Given the description of an element on the screen output the (x, y) to click on. 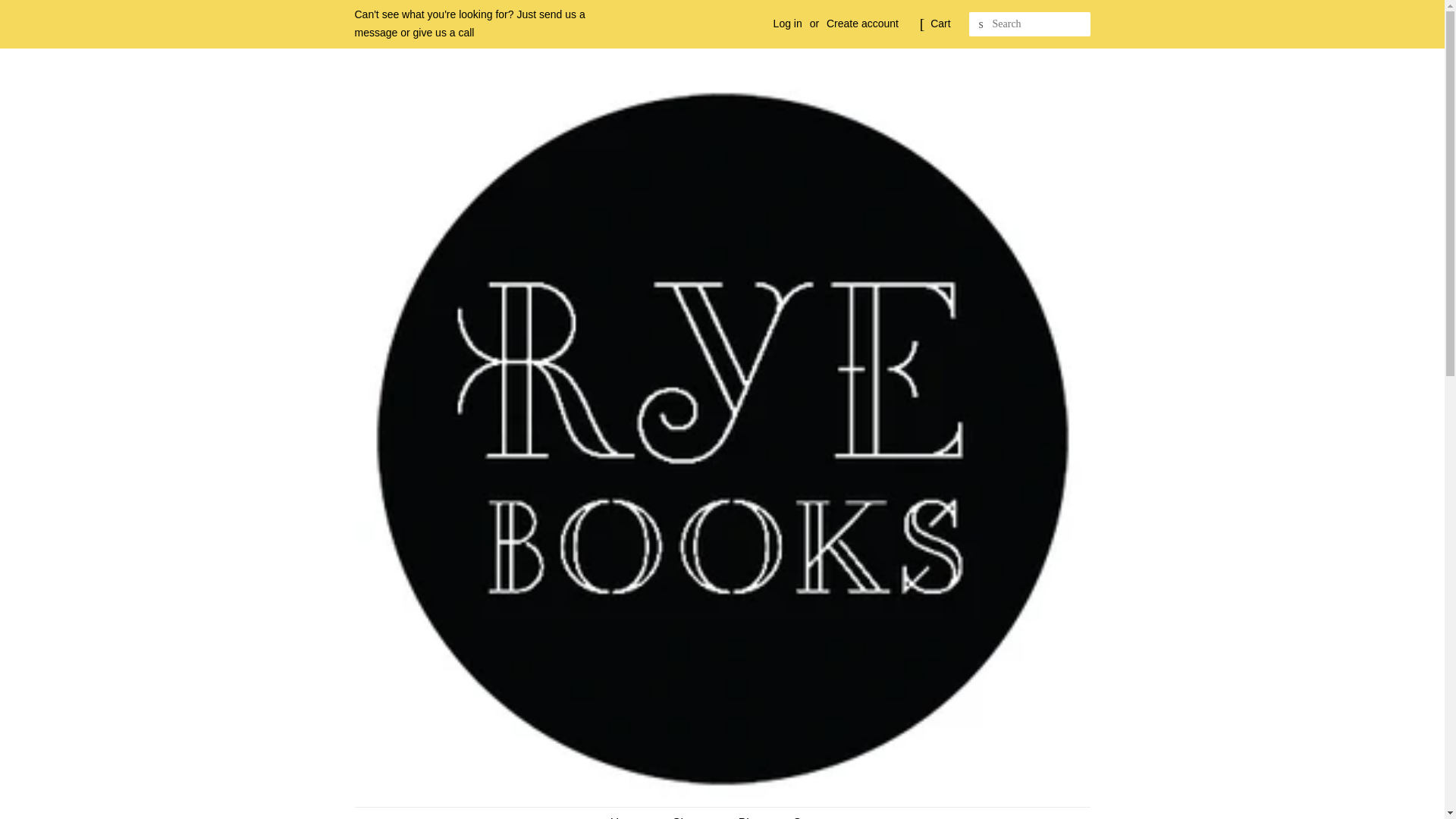
Cart (940, 24)
Create account (862, 23)
Search (980, 24)
Log in (787, 23)
